Given the description of an element on the screen output the (x, y) to click on. 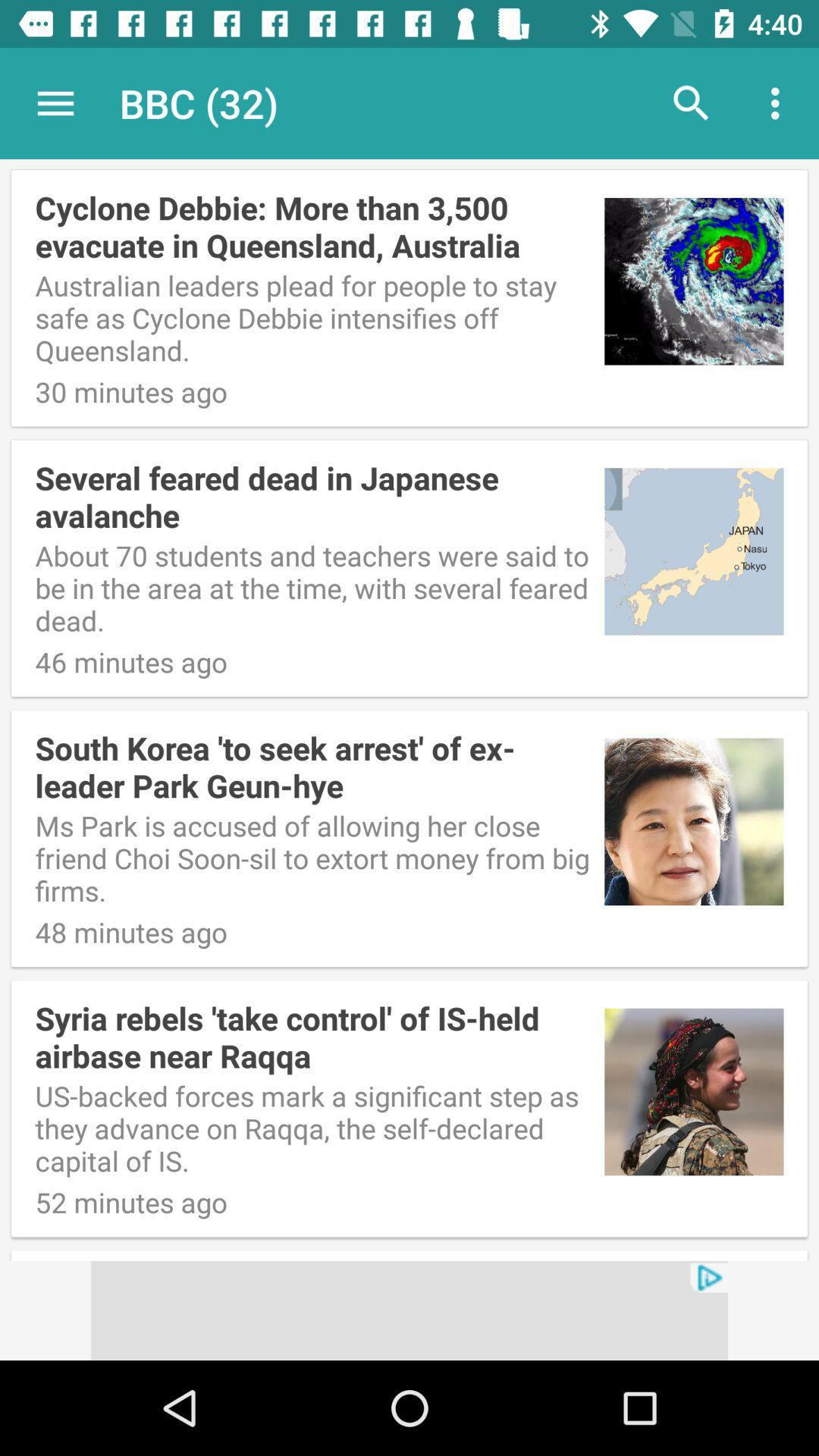
turn on item above cyclone debbie more icon (409, 105)
